Given the description of an element on the screen output the (x, y) to click on. 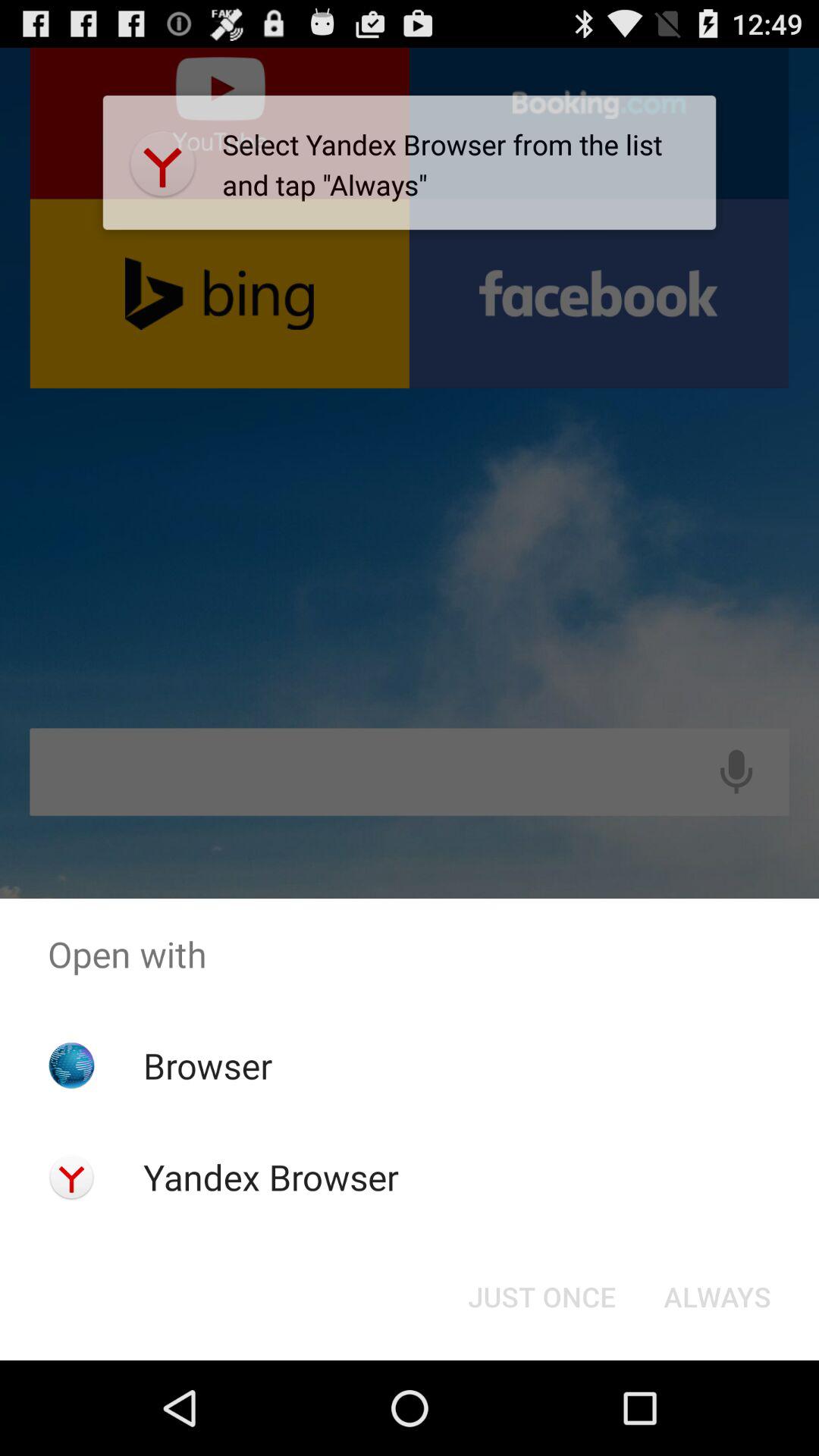
click the yandex browser app (270, 1176)
